Given the description of an element on the screen output the (x, y) to click on. 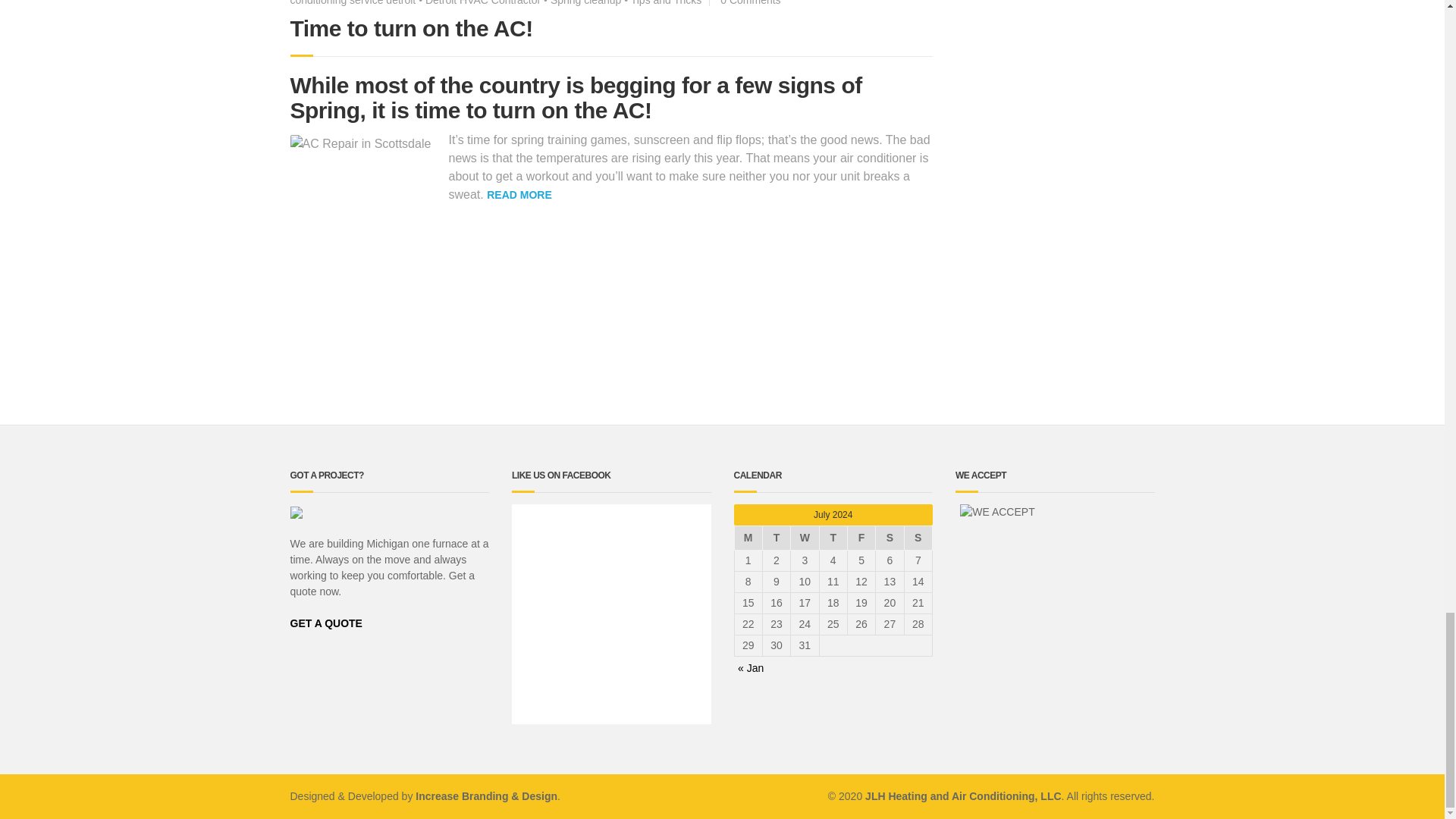
Friday (861, 538)
Sunday (917, 538)
Monday (747, 538)
Detroit HVAC Contractor (482, 2)
Thursday (832, 538)
Saturday (890, 538)
Tuesday (775, 538)
Wednesday (804, 538)
